Given the description of an element on the screen output the (x, y) to click on. 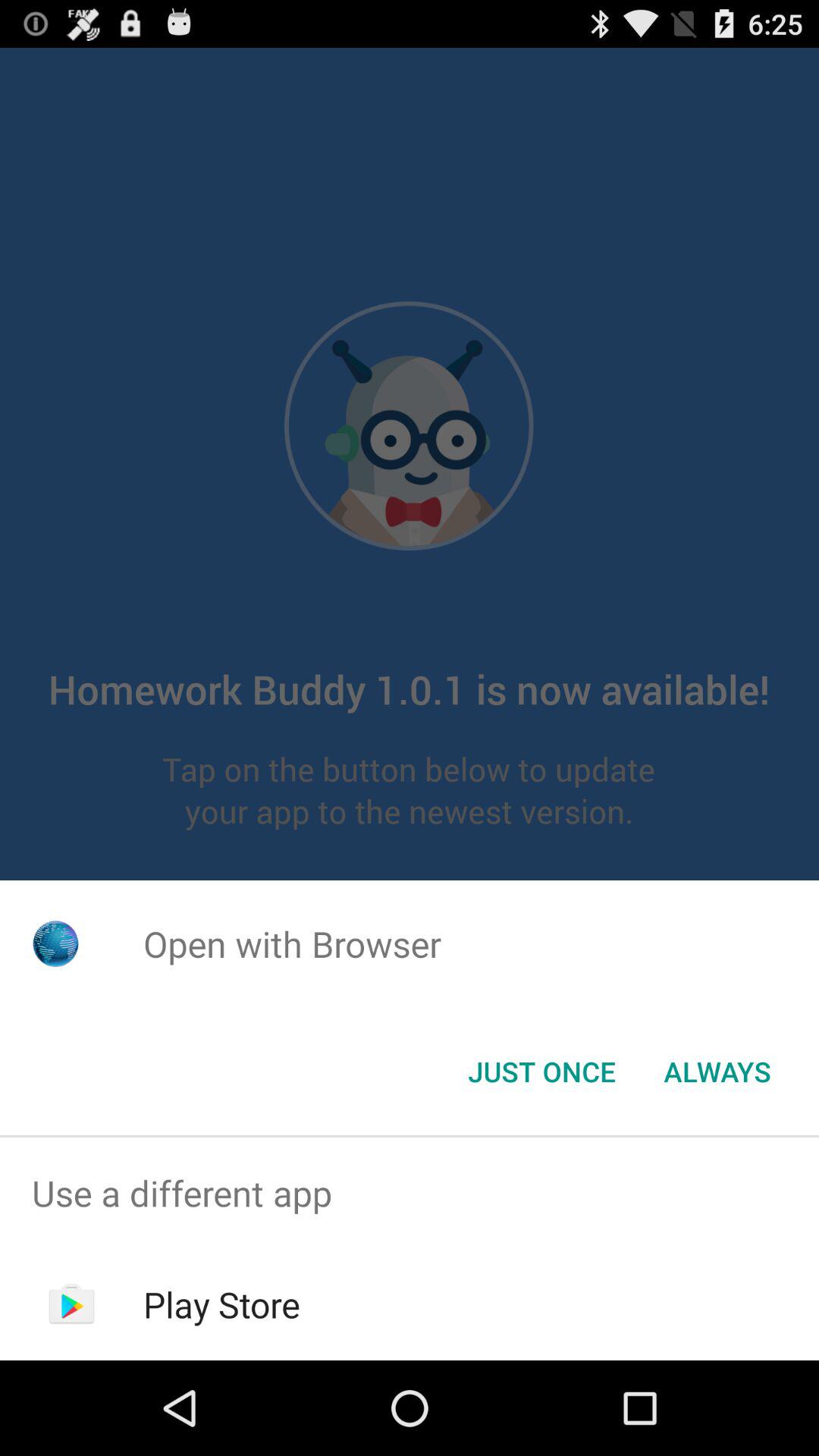
turn off app below the use a different icon (221, 1304)
